Given the description of an element on the screen output the (x, y) to click on. 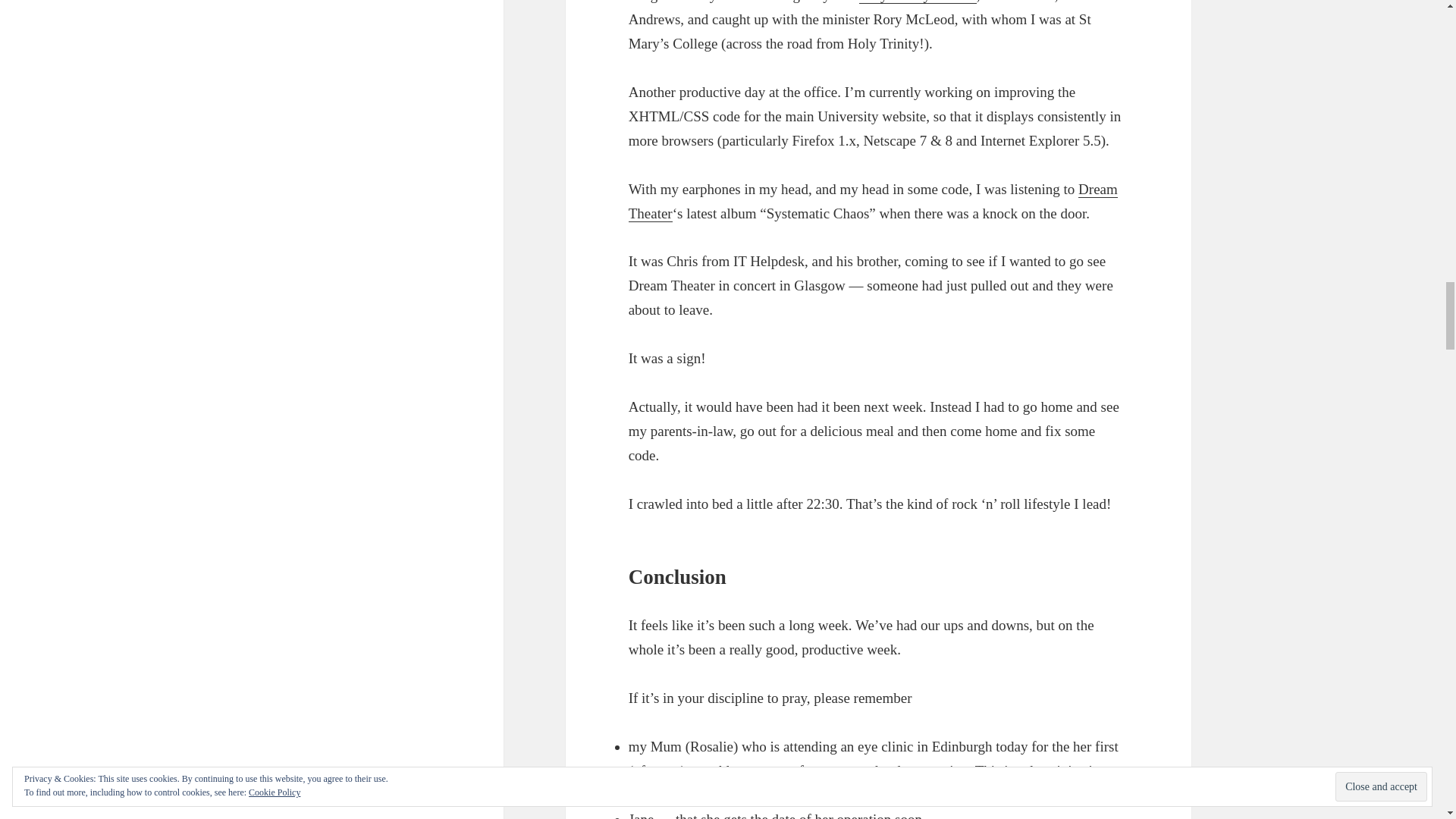
Holy Trinity Church, St Andrews (917, 2)
Dream Theater (873, 200)
